Given the description of an element on the screen output the (x, y) to click on. 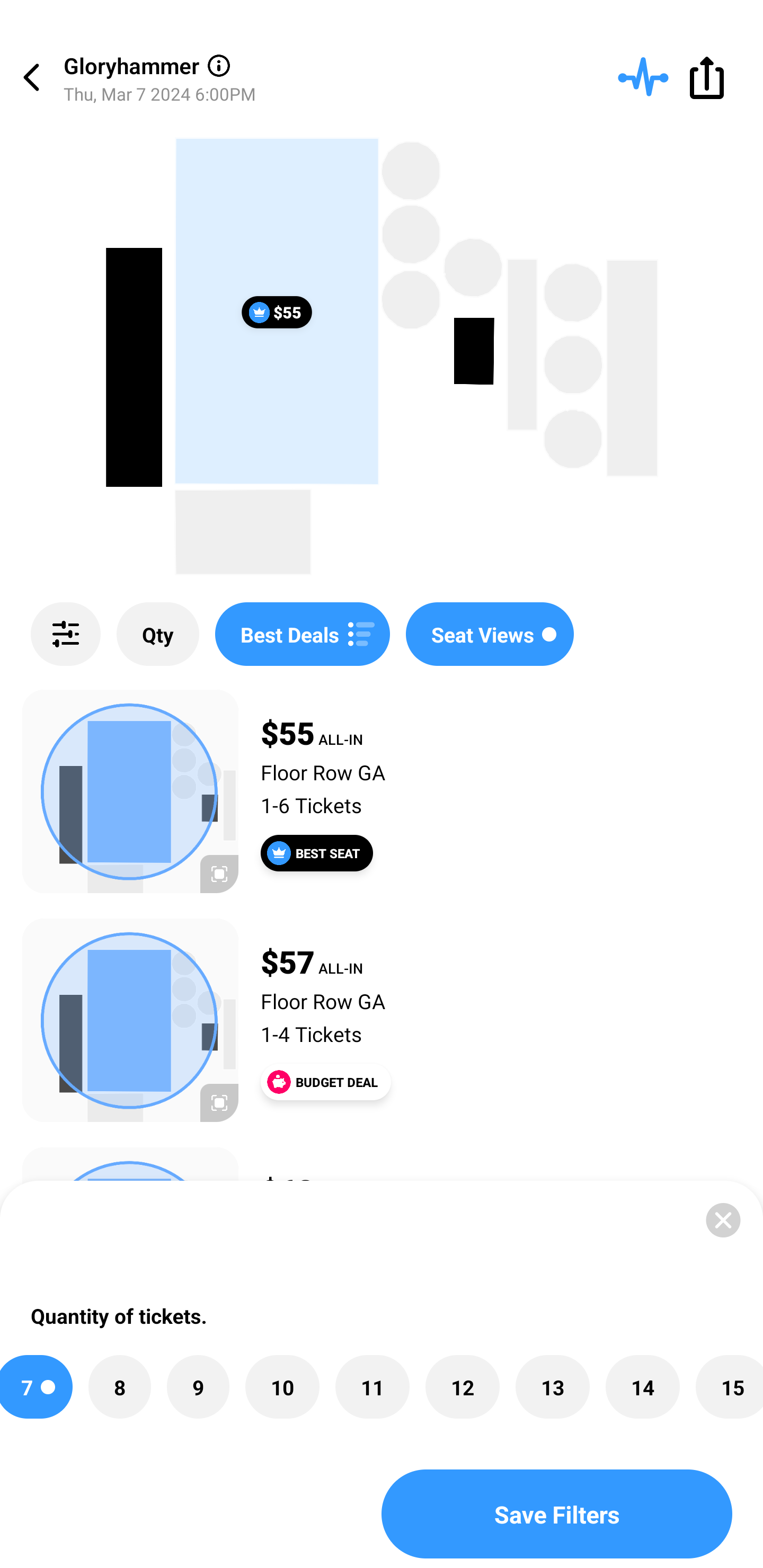
7 (36, 1386)
8 (119, 1386)
9 (198, 1386)
10 (282, 1386)
11 (372, 1386)
12 (462, 1386)
13 (552, 1386)
14 (642, 1386)
15 (729, 1386)
Save Filters (556, 1513)
